Given the description of an element on the screen output the (x, y) to click on. 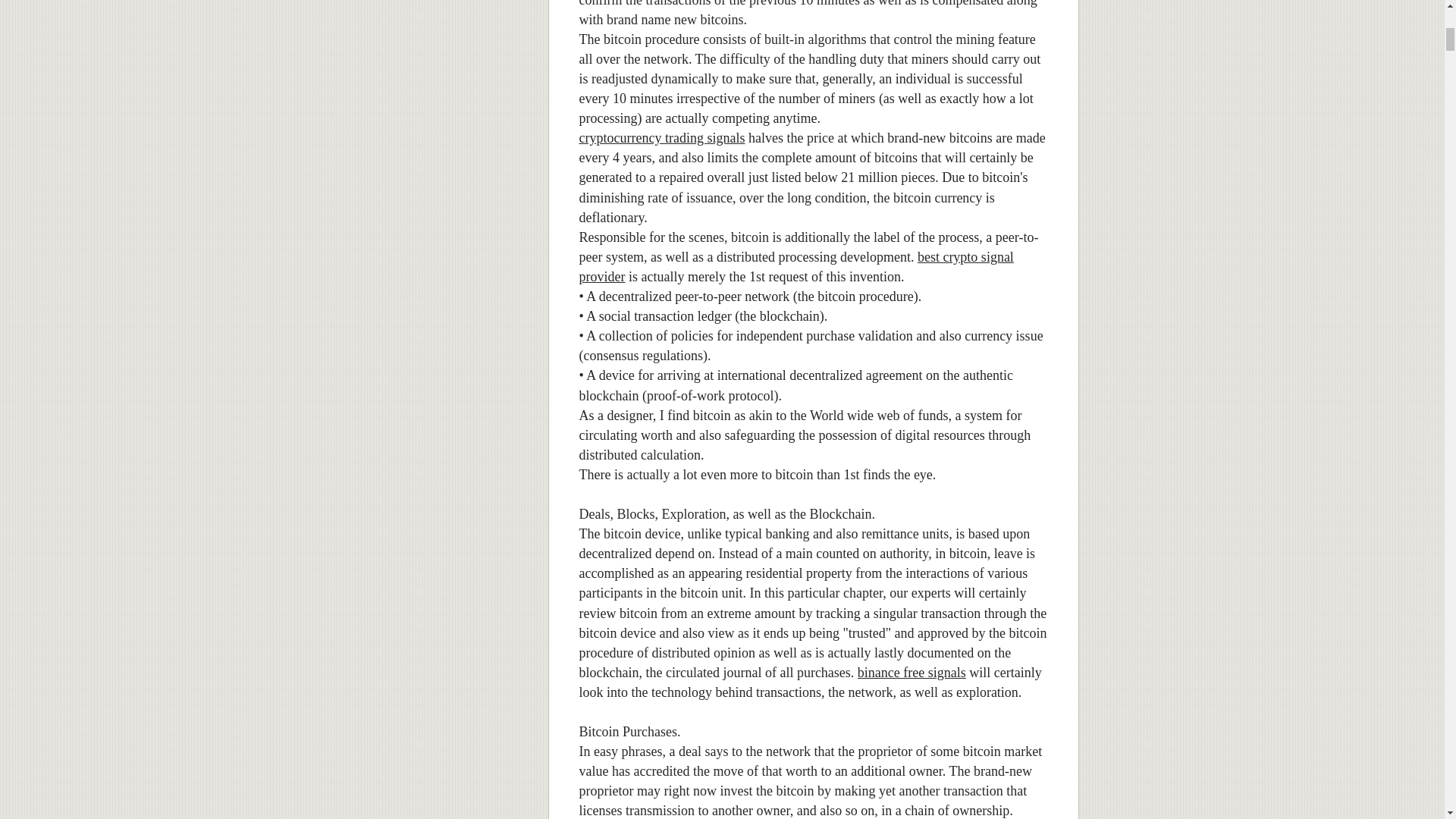
binance free signals (911, 672)
cryptocurrency trading signals (662, 137)
best crypto signal provider (796, 266)
